Given the description of an element on the screen output the (x, y) to click on. 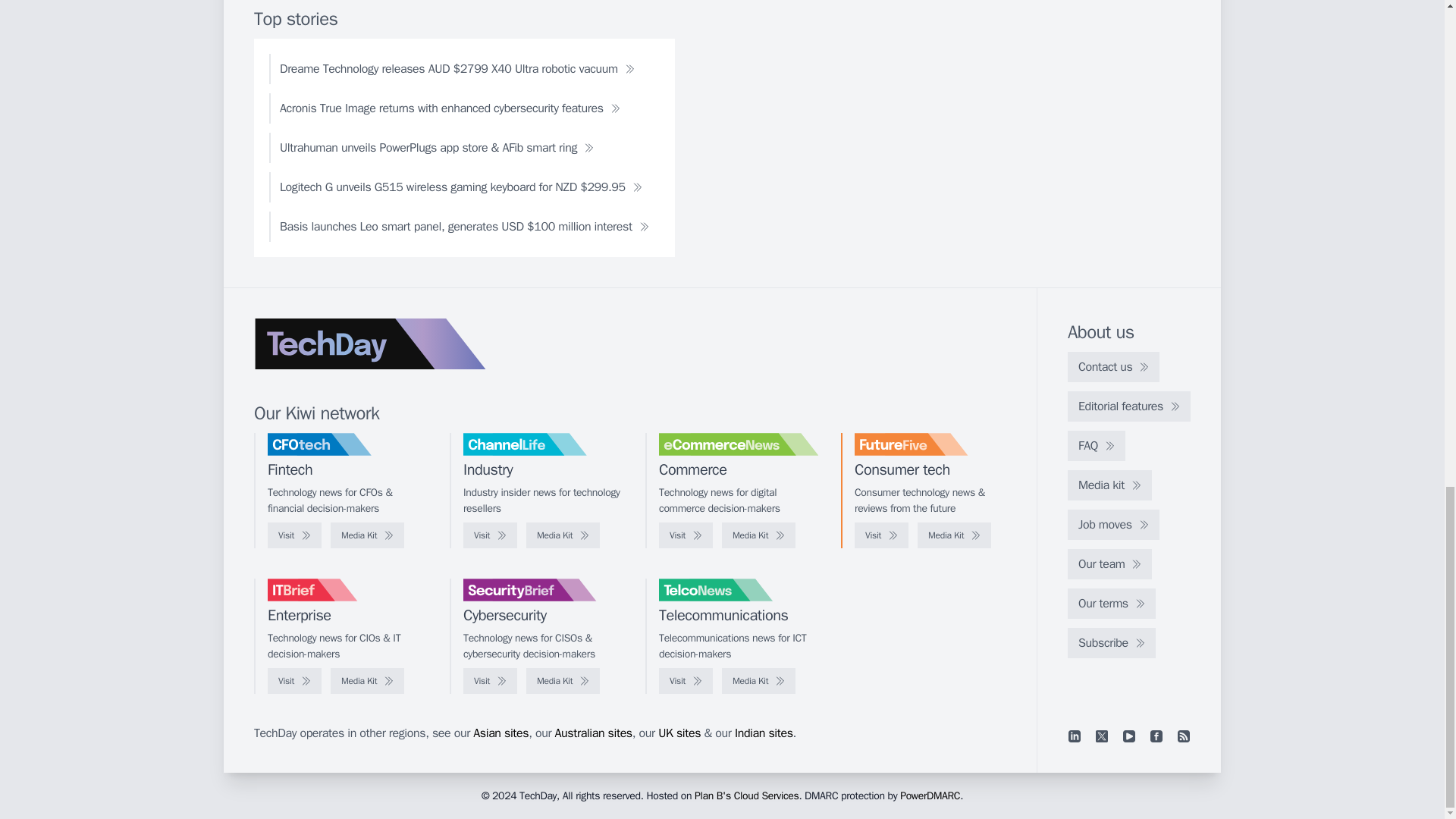
Visit (489, 534)
Visit (294, 534)
Media Kit (562, 534)
Media Kit (367, 534)
Visit (881, 534)
Media Kit (954, 534)
Media Kit (758, 534)
Visit (686, 534)
